Given the description of an element on the screen output the (x, y) to click on. 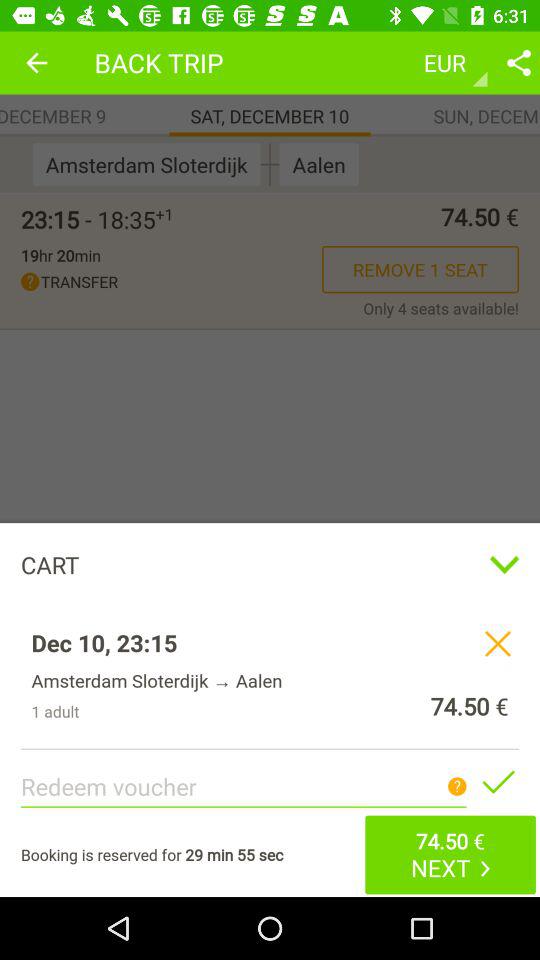
click icon next to transfer (441, 308)
